Given the description of an element on the screen output the (x, y) to click on. 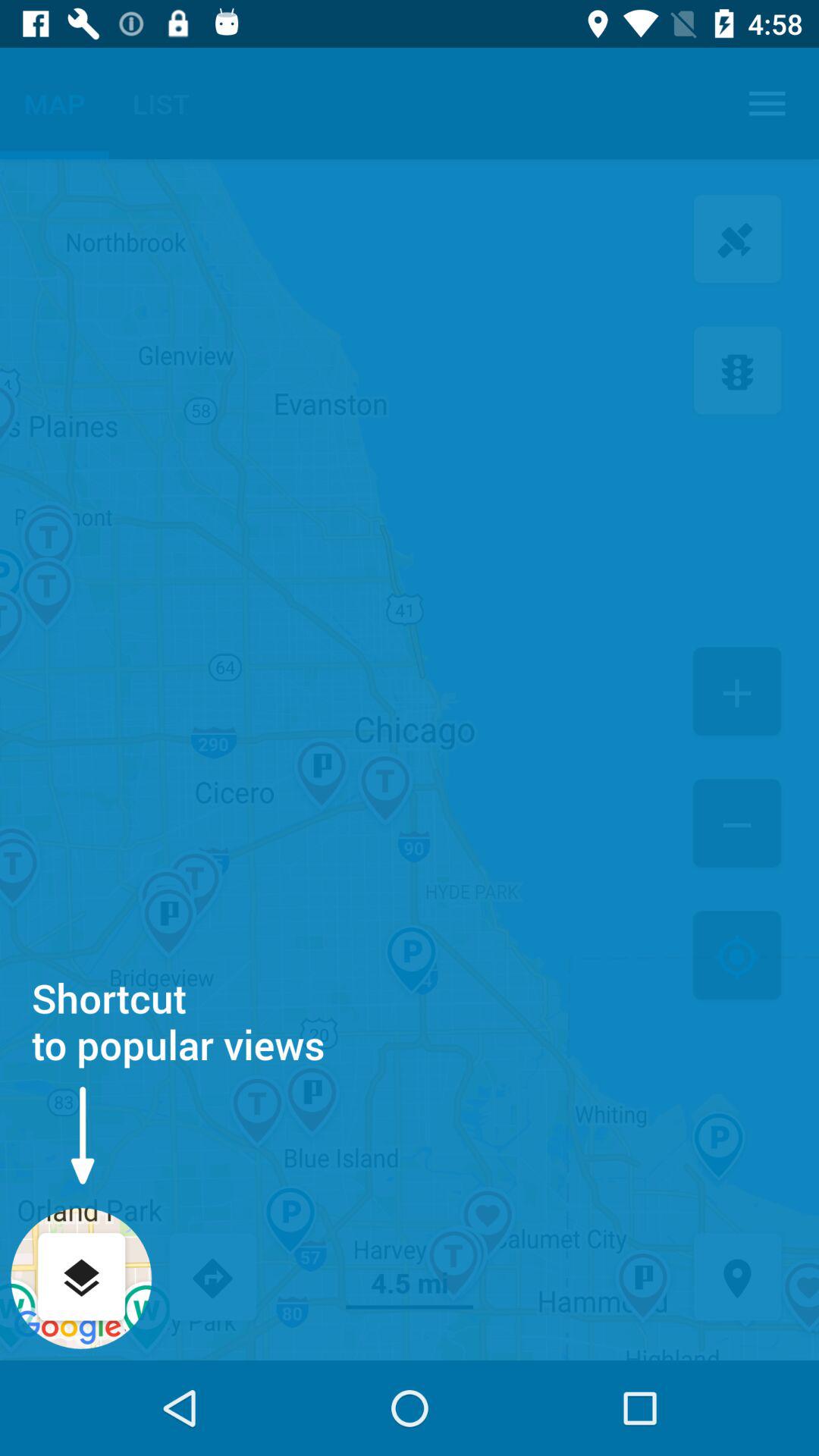
gps location button (737, 1278)
